Given the description of an element on the screen output the (x, y) to click on. 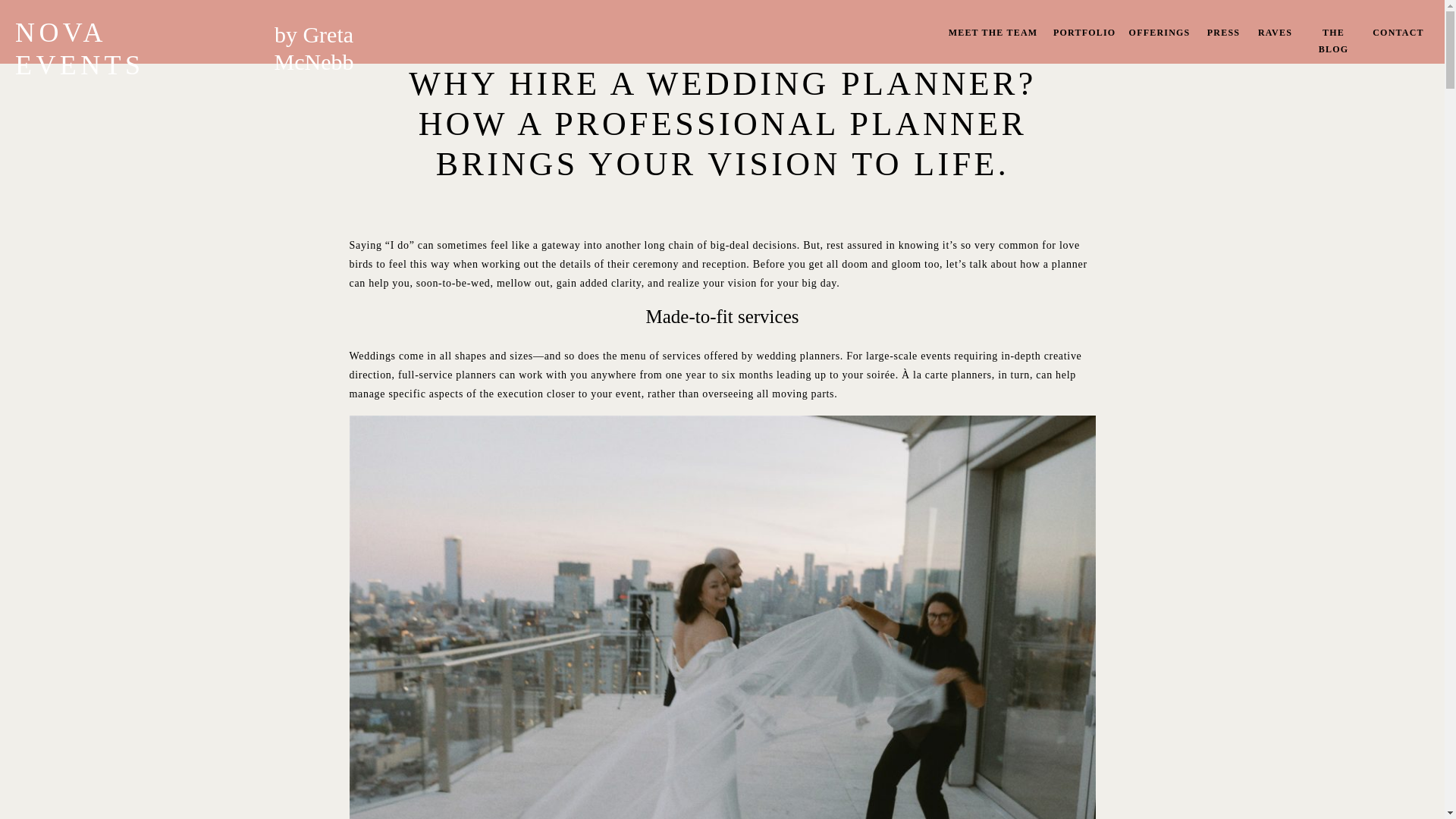
CONTACT (1398, 35)
OFFERINGS (1159, 35)
MEET THE TEAM (992, 35)
PRESS (1223, 35)
NOVA EVENTS (128, 31)
PORTFOLIO (1083, 35)
by Greta McNebb (313, 32)
RAVES (1274, 35)
THE BLOG (1332, 35)
